Given the description of an element on the screen output the (x, y) to click on. 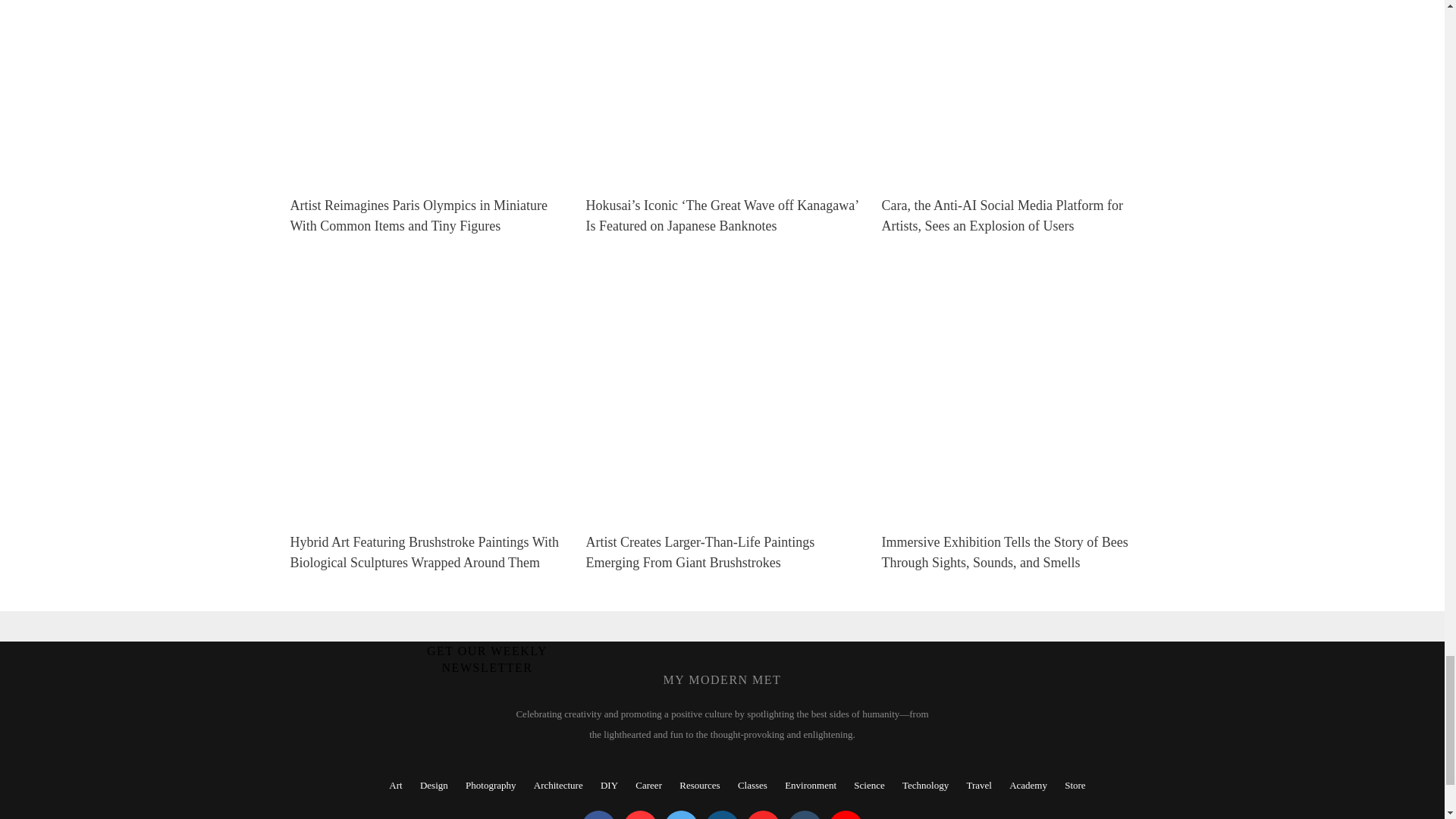
My Modern Met on Pinterest (640, 814)
My Modern Met on Twitter (680, 814)
My Modern Met on YouTube (845, 814)
My Modern Met on Instagram (721, 814)
My Modern Met on Tumblr (804, 814)
My Modern Met on Facebook (597, 814)
